Given the description of an element on the screen output the (x, y) to click on. 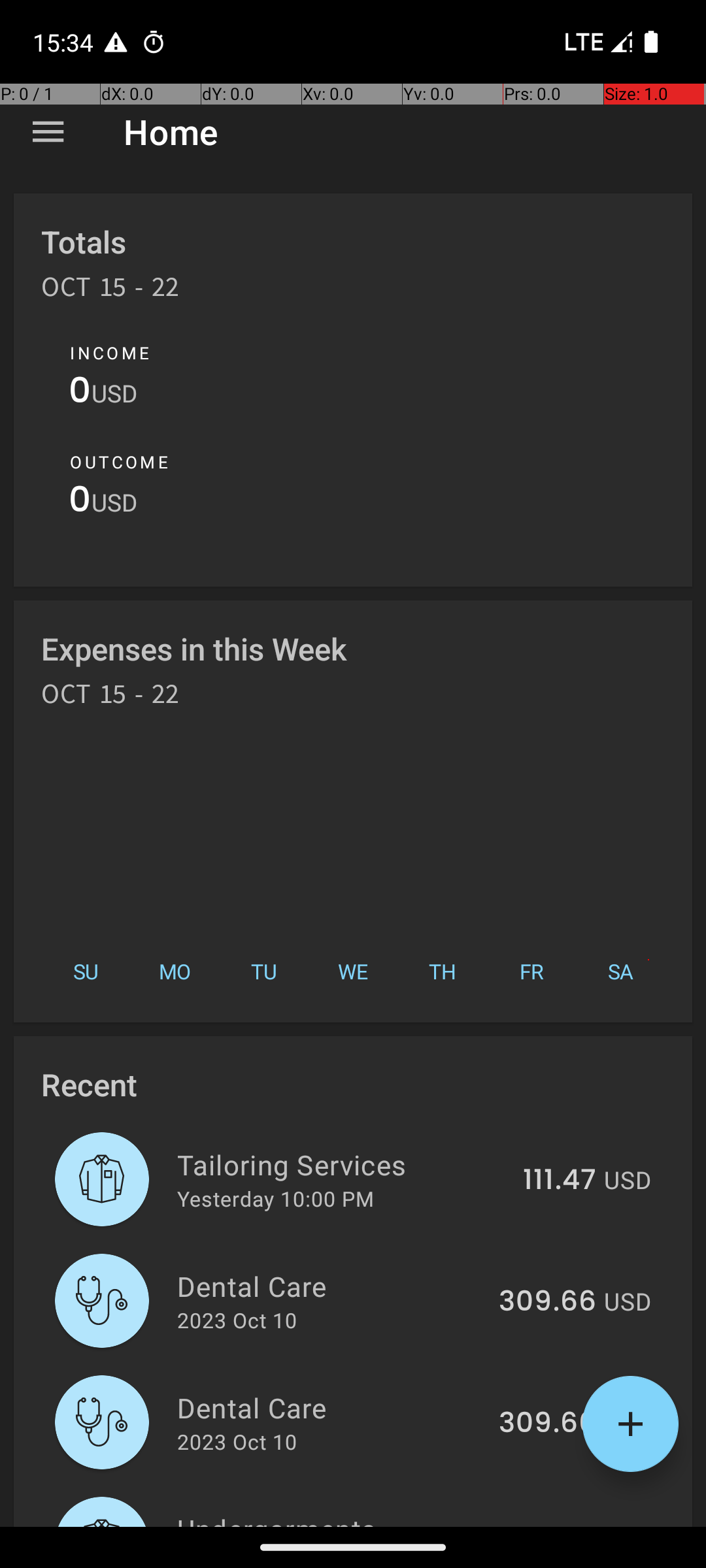
Tailoring Services Element type: android.widget.TextView (342, 1164)
Yesterday 10:00 PM Element type: android.widget.TextView (275, 1198)
111.47 Element type: android.widget.TextView (559, 1180)
Dental Care Element type: android.widget.TextView (330, 1285)
309.66 Element type: android.widget.TextView (547, 1301)
Undergarments Element type: android.widget.TextView (335, 1518)
174.52 Element type: android.widget.TextView (552, 1524)
